Given the description of an element on the screen output the (x, y) to click on. 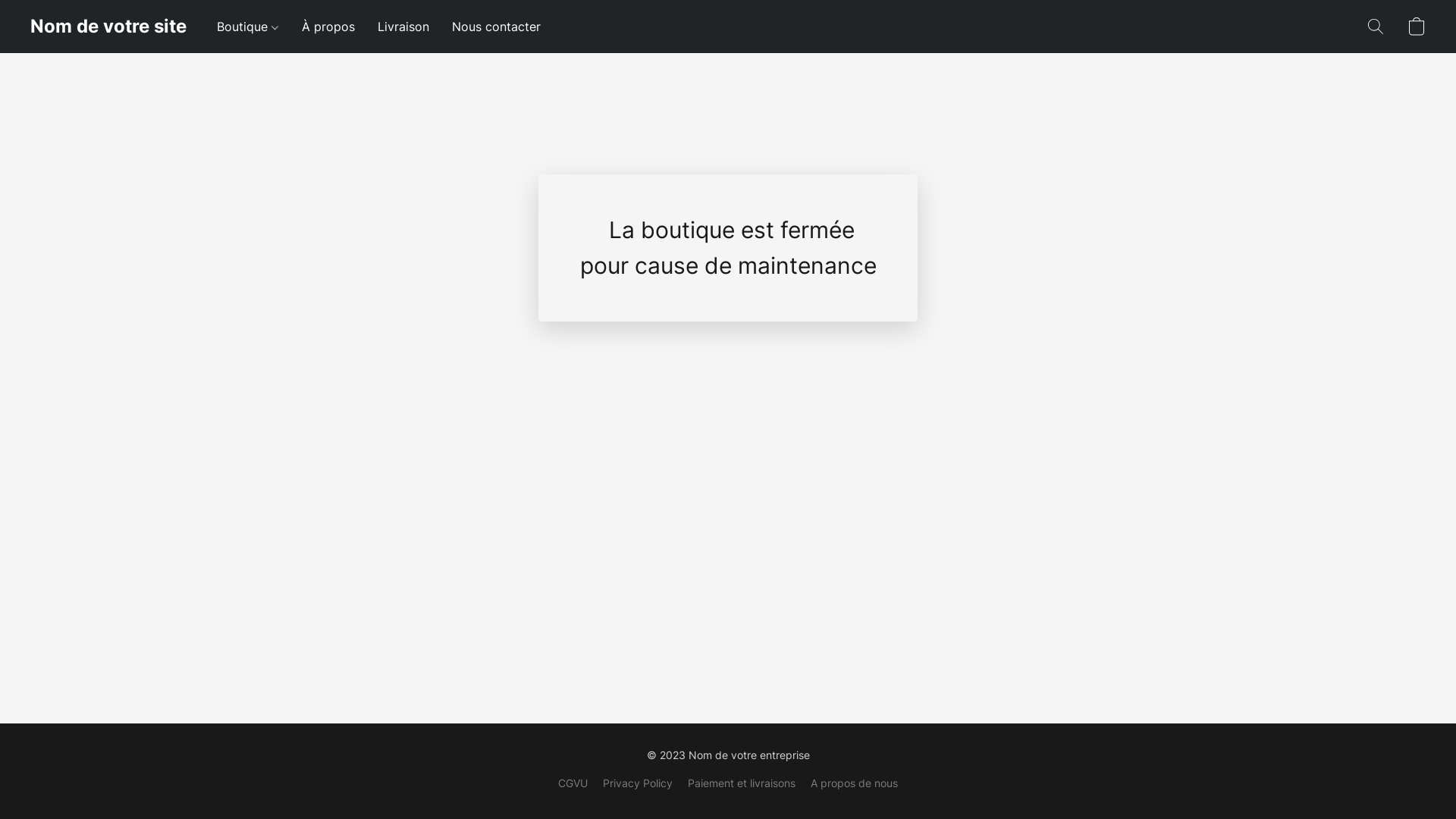
Boutique Element type: text (253, 26)
Aller au panier Element type: hover (1416, 26)
CGVU Element type: text (572, 783)
Nom de votre site Element type: text (108, 26)
Privacy Policy Element type: text (637, 783)
Paiement et livraisons Element type: text (741, 783)
Recherche le site Web Element type: hover (1375, 26)
Livraison Element type: text (403, 26)
Nous contacter Element type: text (490, 26)
A propos de nous Element type: text (853, 783)
